Given the description of an element on the screen output the (x, y) to click on. 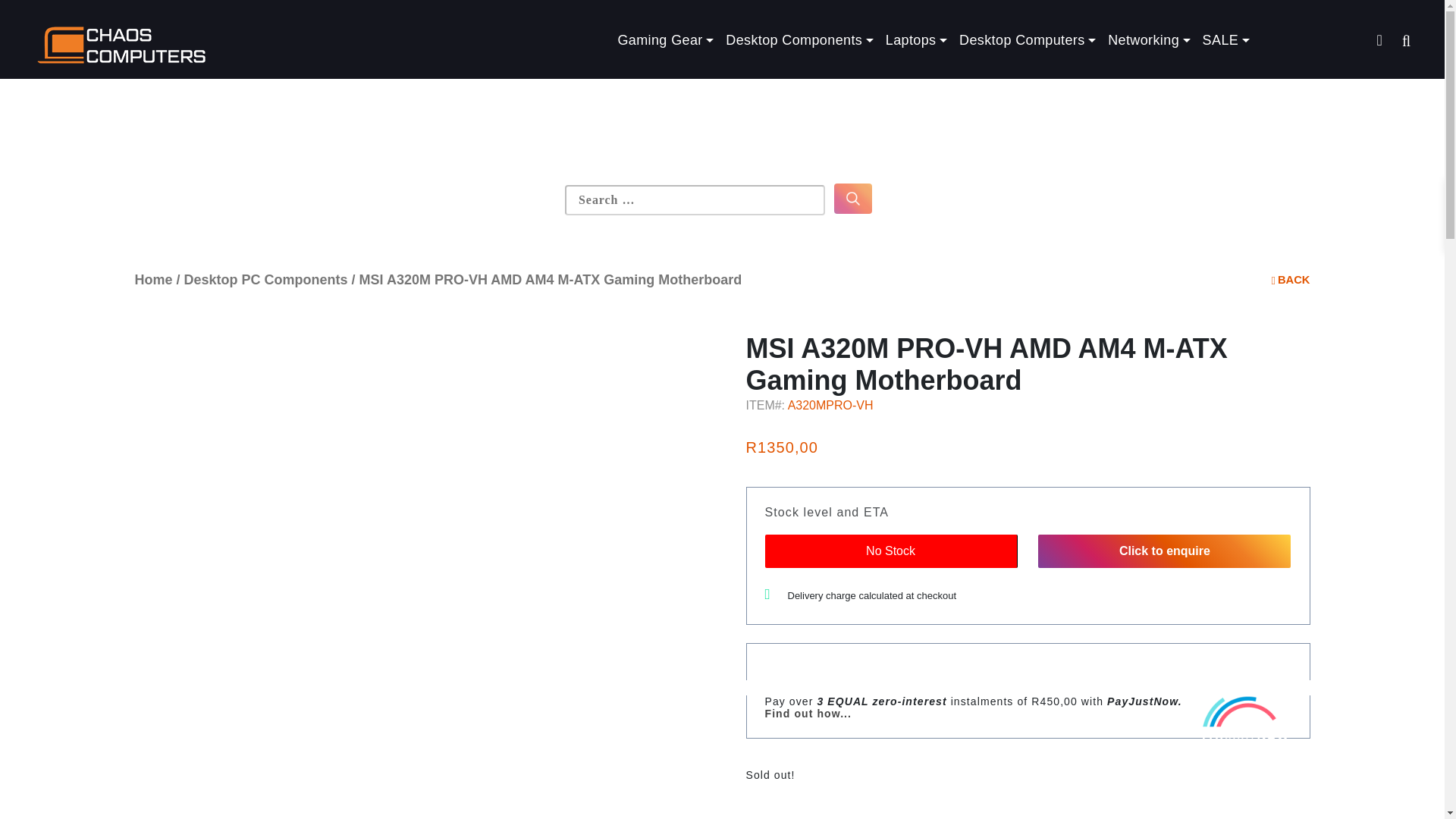
Gaming Gear (665, 40)
Networking (1148, 40)
Laptops (916, 40)
Desktop Components (799, 40)
Gaming Gear (665, 40)
Desktop Computers (1027, 40)
Desktop Components (799, 40)
